Given the description of an element on the screen output the (x, y) to click on. 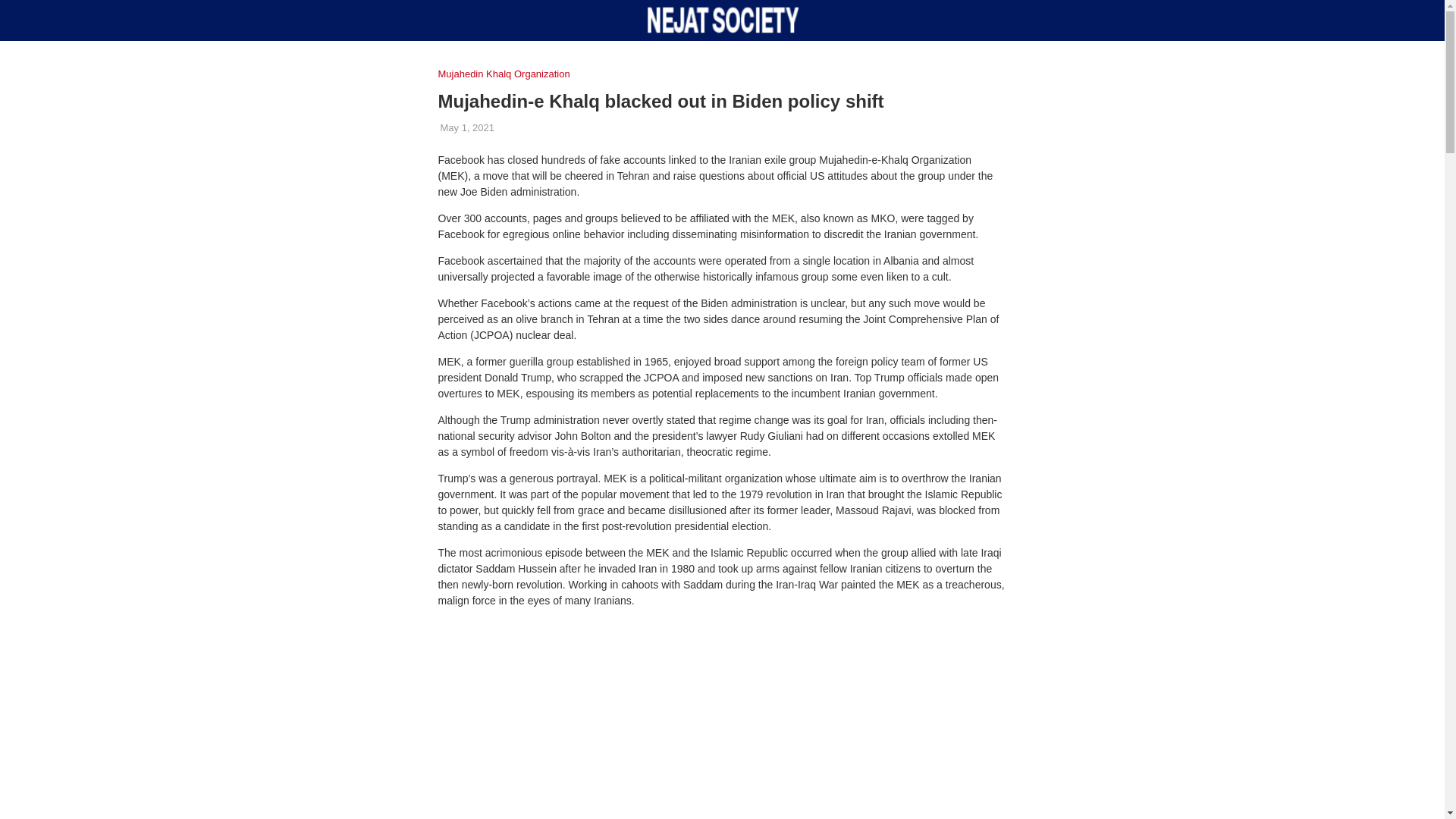
May 1, 2021 (467, 127)
Mujahedin Khalq Organization (508, 73)
